Given the description of an element on the screen output the (x, y) to click on. 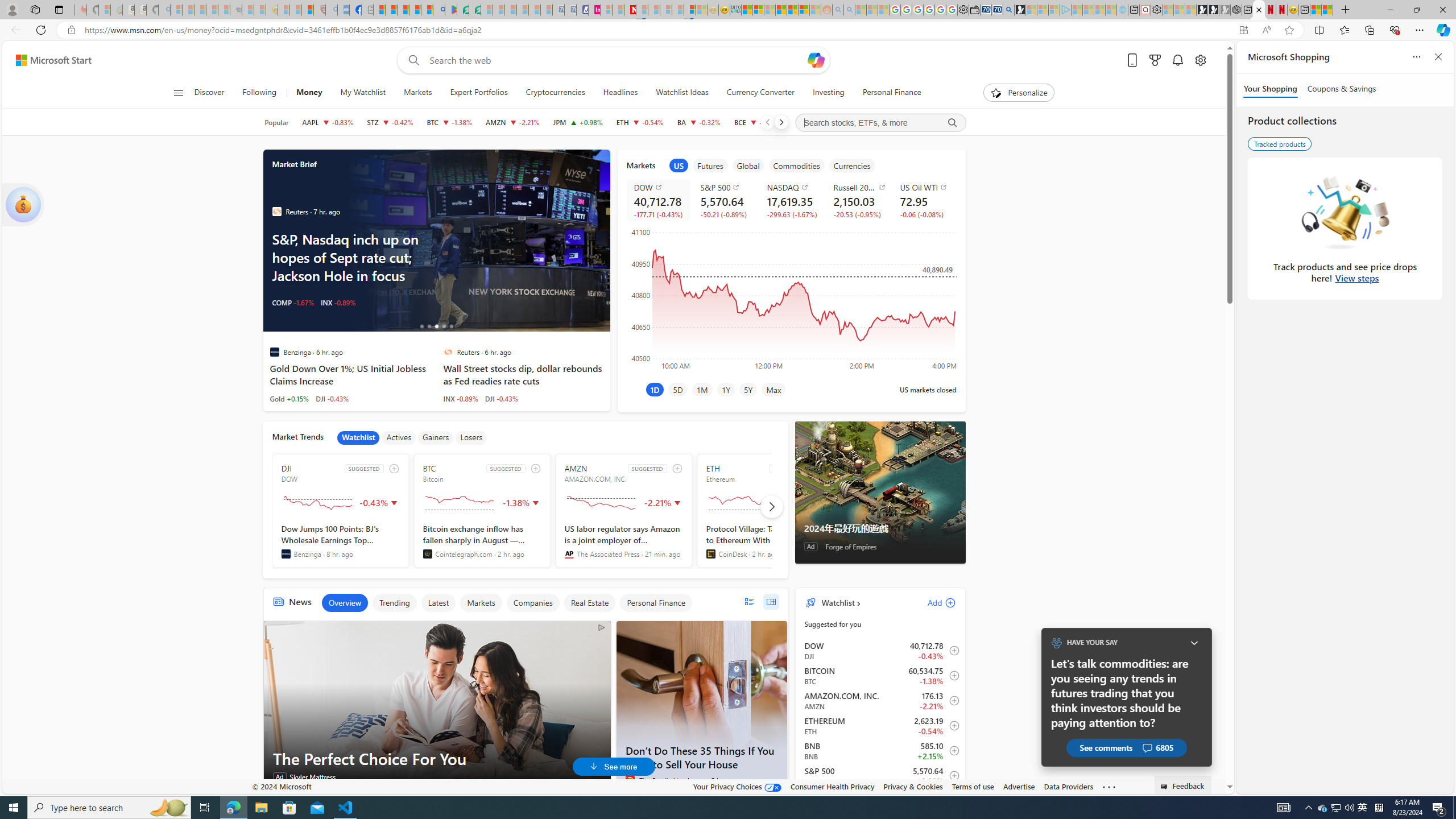
Terms of use (973, 786)
BCE BCE Inc decrease 34.55 -0.07 -0.20% (756, 122)
Terms of Use Agreement (462, 9)
Reuters (447, 351)
Combat Siege (236, 9)
Personal Finance (887, 92)
NASDAQ (793, 187)
DOW DJI decrease 40,712.78 -177.71 -0.43% (658, 200)
Personal Finance (654, 602)
